Given the description of an element on the screen output the (x, y) to click on. 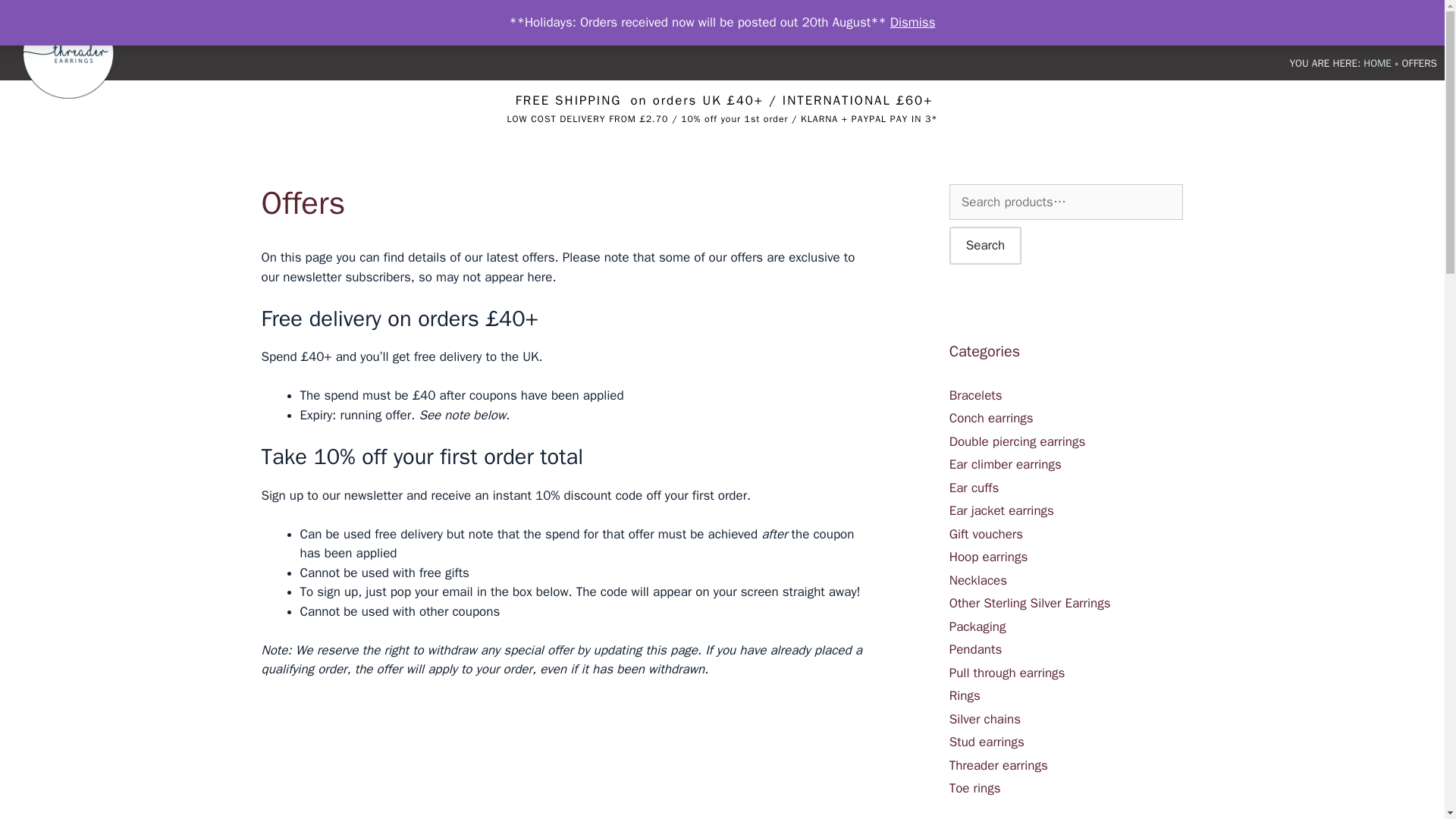
Home (919, 22)
Conch earrings (991, 417)
Info (1326, 22)
Basket (1174, 22)
HOME (1376, 62)
Search (985, 245)
SALE (1052, 22)
My account (1250, 22)
Threader Earrings (71, 53)
Ear climber earrings (1005, 464)
